Given the description of an element on the screen output the (x, y) to click on. 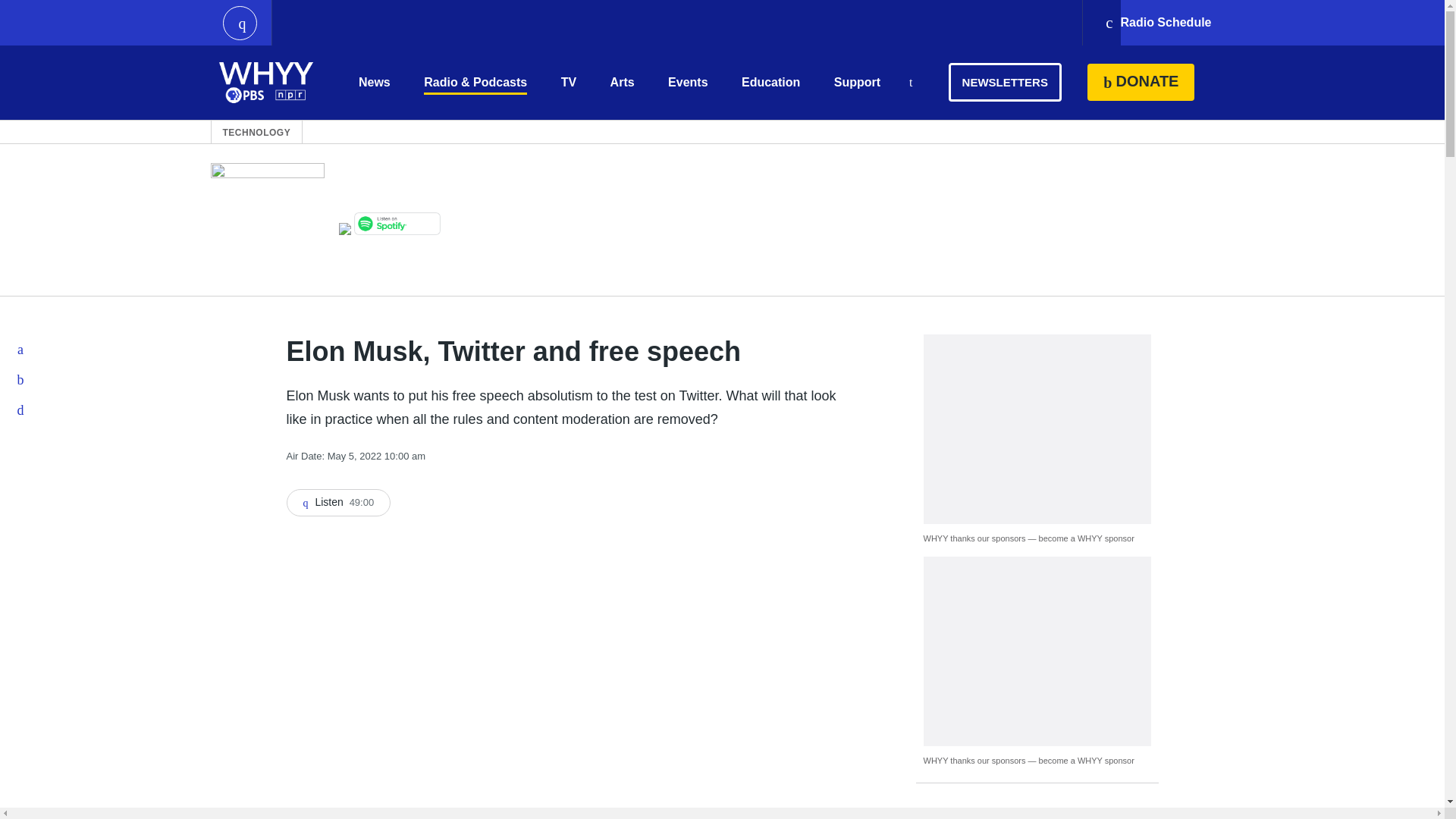
Radio Schedule (1157, 22)
Email (21, 409)
TECHNOLOGY (256, 132)
Twitter (21, 379)
WHYY (266, 82)
Search (910, 83)
Facebook (21, 349)
Elon Musk, Twitter and free speech (338, 502)
